Given the description of an element on the screen output the (x, y) to click on. 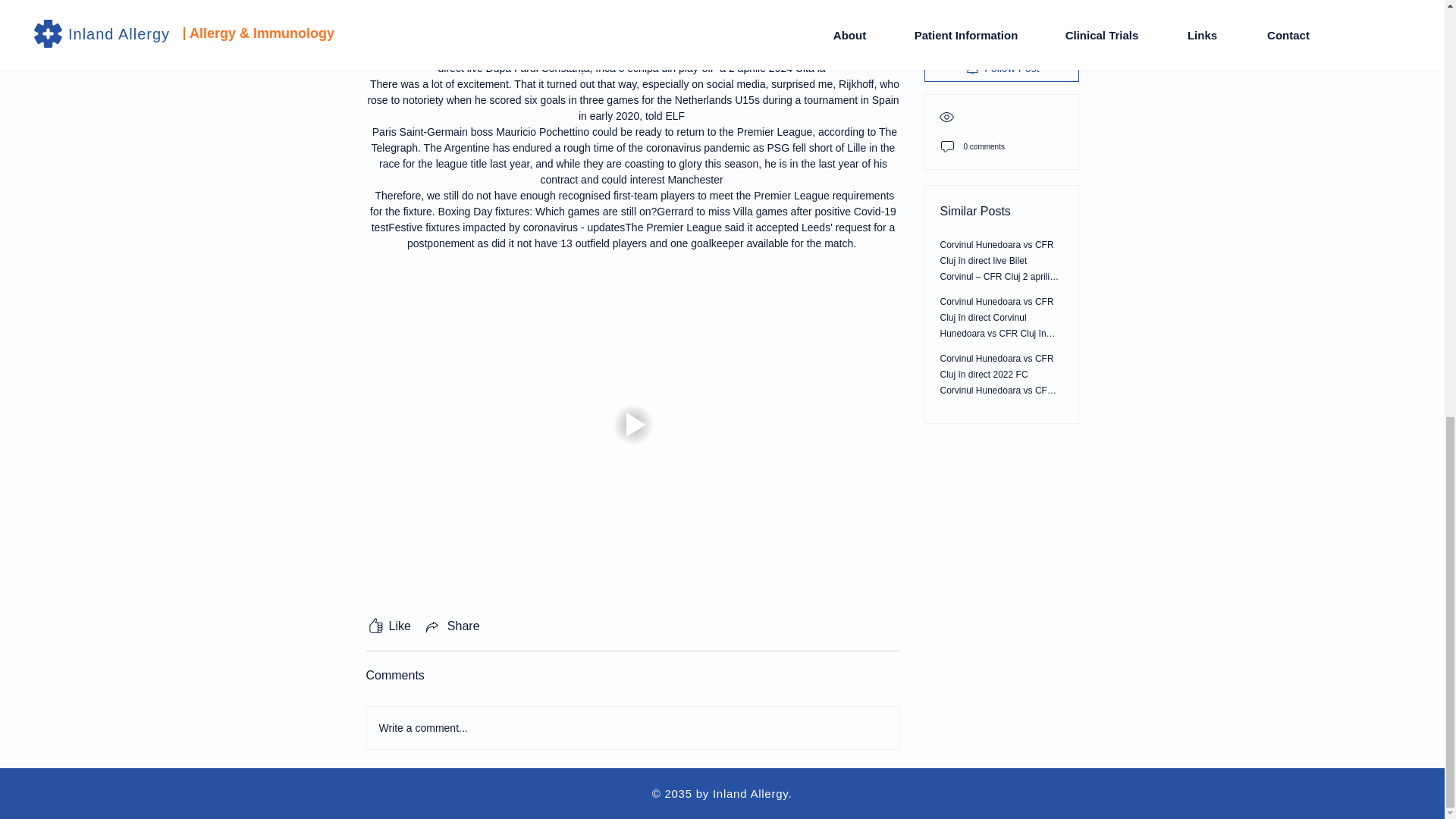
Share (451, 626)
Like (387, 626)
Write a comment... (632, 727)
